Given the description of an element on the screen output the (x, y) to click on. 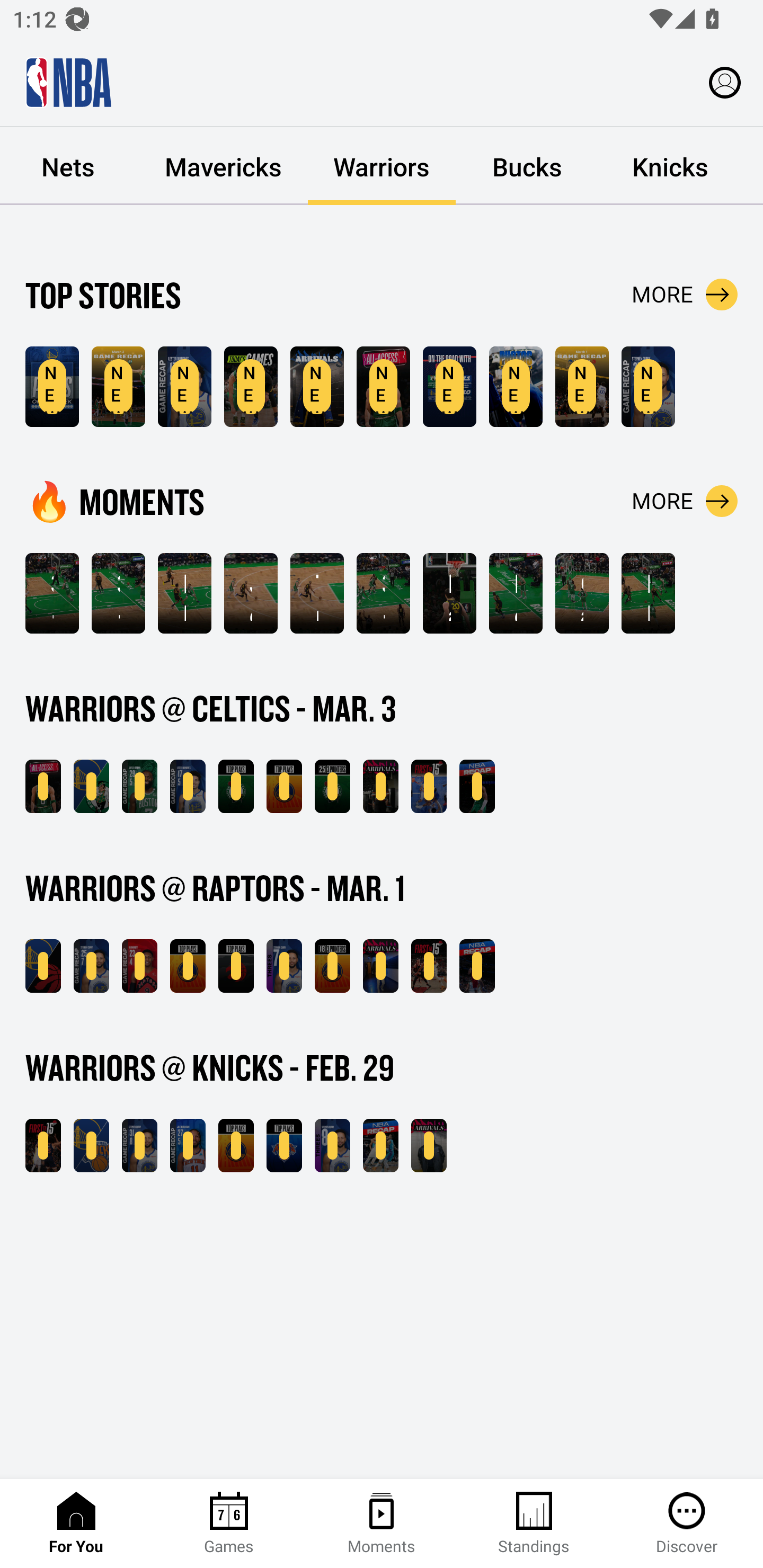
Profile (724, 81)
Nets (69, 166)
Mavericks (223, 166)
Bucks (526, 166)
Knicks (669, 166)
MORE (684, 294)
NEW GSW's Top Plays of Week 19 (51, 386)
NEW Warriors Game Recap vs. Celtics (117, 386)
NEW Highlights From Lester Quinones' 17-Point Game (184, 386)
NEW Warriors at Celtics (250, 386)
NEW Dubs' Fits in Boston 💧 (317, 386)
Warriors And Celtics Clash At TD Garden 🍀 NEW (383, 386)
On The Road With Hotels.com NEW (449, 386)
Top Pics at Toronto 📸 NEW (515, 386)
Highlights From Stephen Curry's 25-Point Game NEW (648, 386)
MORE (684, 500)
3-pointer by Lester Quinones (51, 593)
3-pointer by Lester Quinones (117, 593)
Block by Jerome Robinson (184, 593)
Jerome Robinson ascends for the slam! (250, 593)
Trayce Jackson-Davis denies the attempt (317, 593)
3-pointer by Gui Santos (383, 593)
Dario Saric with the And-1 (449, 593)
Moses Moody rises up for the dunk (515, 593)
Gary Payton II with the And-1 (581, 593)
Block by Trayce Jackson-Davis (648, 593)
Warriors And Celtics Clash At TD Garden 🍀 NEW (43, 785)
BOS 140, GSW 88 - Mar 3 NEW (91, 785)
Highlights From Jaylen Brown's 29-Point Game NEW (139, 785)
Highlights From Lester Quinones' 17-Point Game NEW (187, 785)
BOS' Top Plays from GSW vs. BOS NEW (236, 785)
GSW's Top Plays from GSW vs. BOS NEW (284, 785)
All 3-pointers from BOS' 25 3-pointer Night NEW (332, 785)
Steppin' Into Sunday 🔥 NEW (380, 785)
First To 15, Mar. 3rd NEW (428, 785)
Sunday's Recap NEW (477, 785)
NEW GSW 120, TOR 105 - Mar 1 (43, 965)
NEW Highlights From Stephen Curry's 25-Point Game (91, 965)
NEW Highlights From RJ Barrett's 23-Point Game (139, 965)
NEW GSW's Top Plays from GSW vs. TOR (187, 965)
NEW TOR's Top Plays from GSW vs. TOR (236, 965)
All 3-pointers from GSW's 18 3-pointer Night NEW (332, 965)
Which Fit From Friday Would You Rock? 🤔 NEW (380, 965)
First To 15: Mar. 1st NEW (428, 965)
Giannis' Big Night Highlights Friday's Action NEW (477, 965)
NEW First To 15: Feb. 29th (43, 1145)
NEW GSW 110, NYK 99 - Feb 29 (91, 1145)
NEW Highlights From Stephen Curry's 31-Point Game (139, 1145)
NEW Highlights From Jalen Brunson's 27-Point Game (187, 1145)
NEW GSW's Top Plays from GSW vs. NYK (236, 1145)
NYK's Top Plays from GSW vs. NYK NEW (284, 1145)
Thursday's Recap NEW (380, 1145)
Thursday Night's Arrivals 🔥 NEW (428, 1145)
Games (228, 1523)
Moments (381, 1523)
Standings (533, 1523)
Discover (686, 1523)
